Given the description of an element on the screen output the (x, y) to click on. 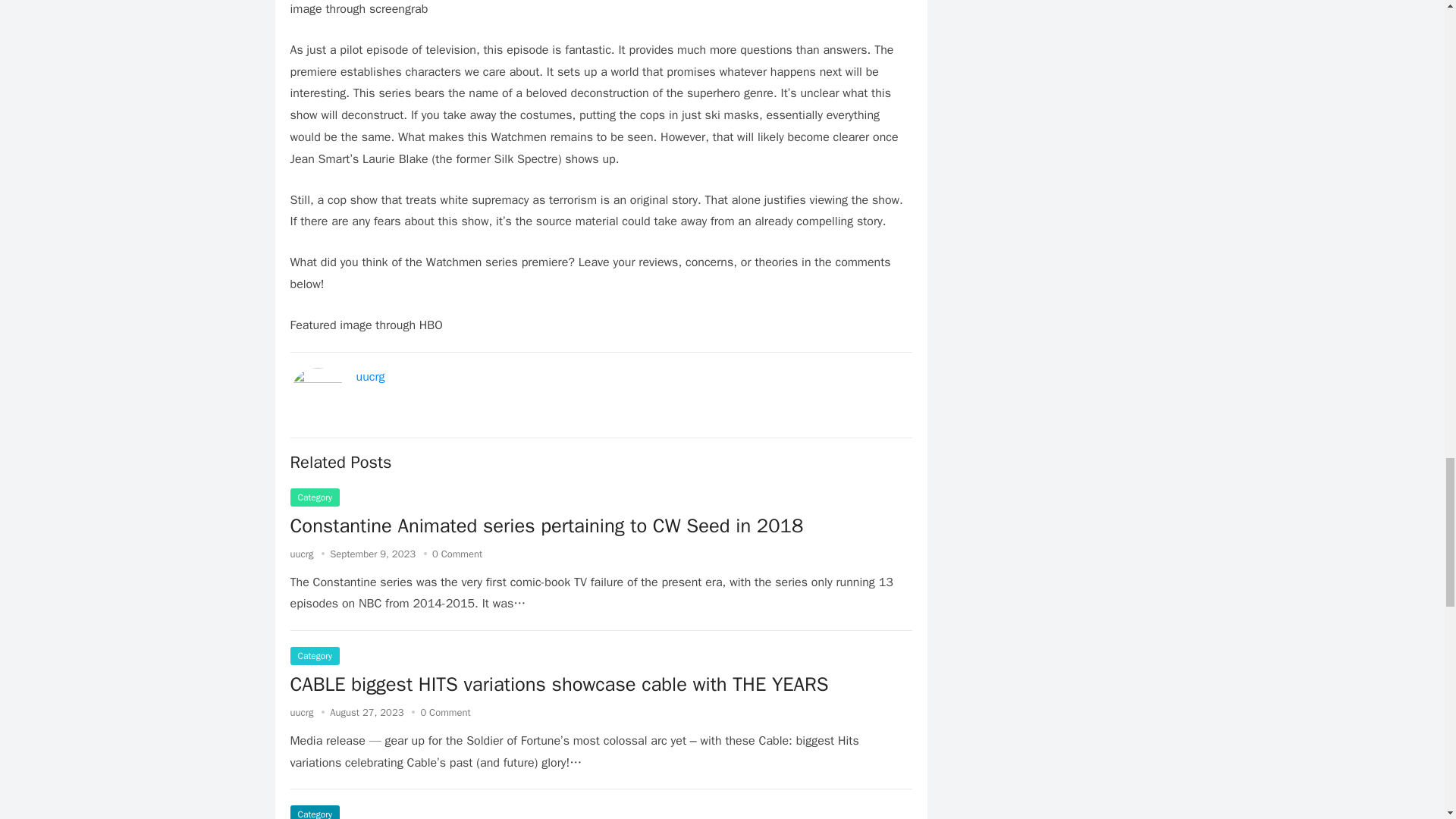
CABLE biggest HITS variations showcase cable with THE YEARS (558, 683)
Posts by uucrg (301, 553)
uucrg (301, 553)
Category (314, 812)
0 Comment (445, 712)
0 Comment (456, 553)
Posts by uucrg (301, 712)
uucrg (370, 376)
uucrg (301, 712)
Category (314, 497)
